Given the description of an element on the screen output the (x, y) to click on. 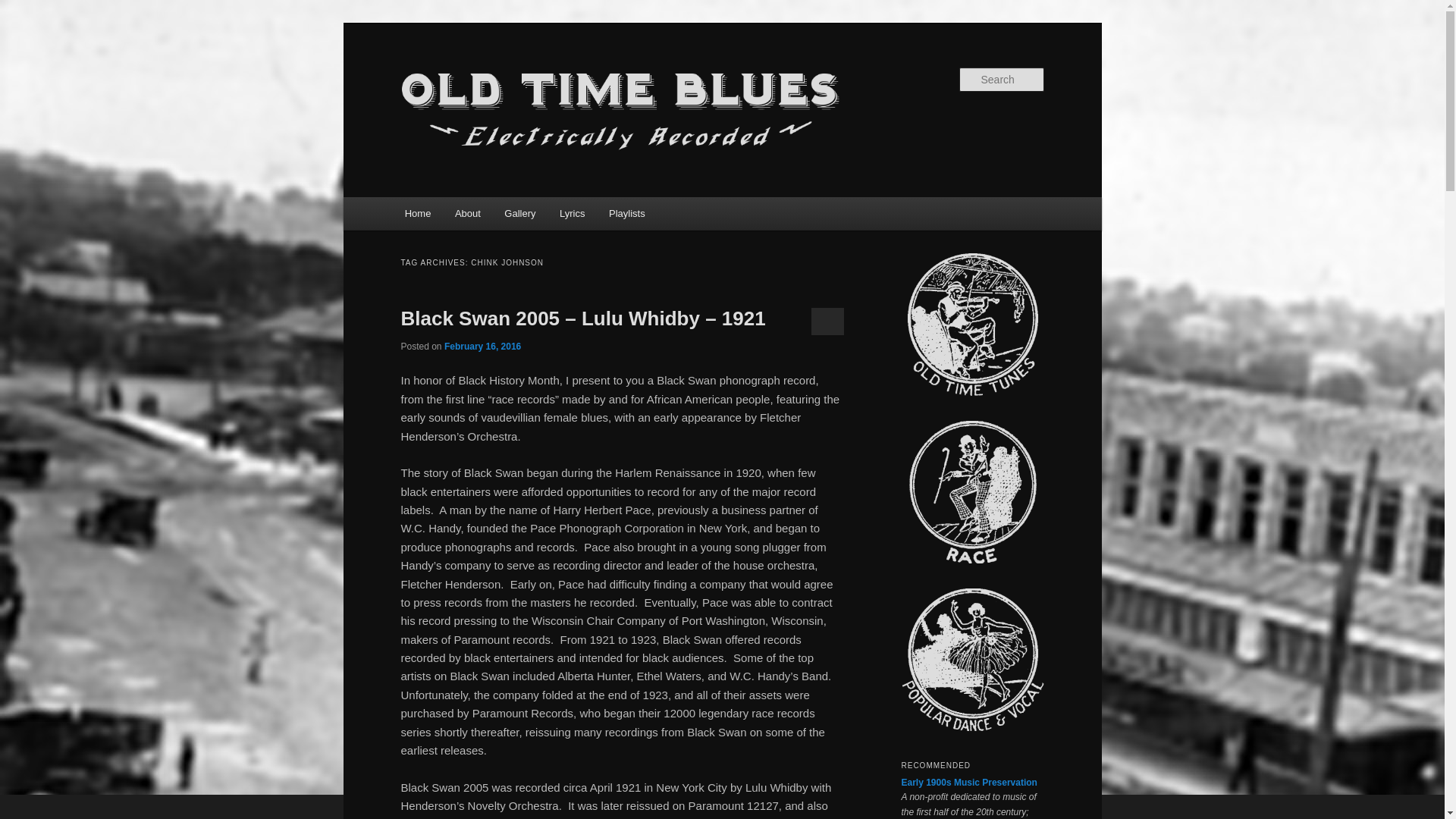
Search (24, 8)
Playlists (626, 213)
2:30 pm (482, 346)
Home (417, 213)
About (467, 213)
Lyrics (571, 213)
Gallery (520, 213)
